Given the description of an element on the screen output the (x, y) to click on. 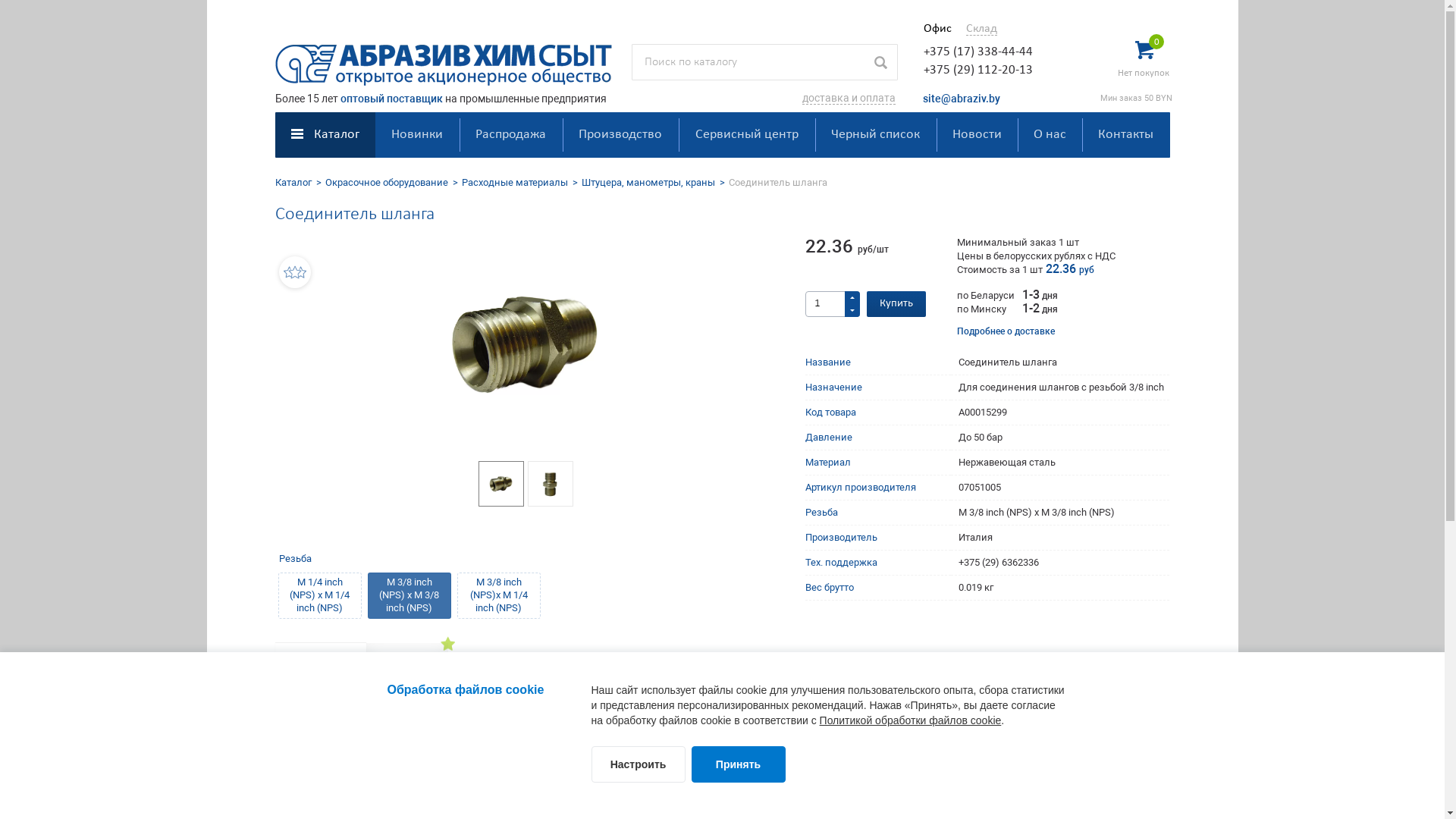
+375 (17) 338-44-44 Element type: text (977, 51)
M 1/4 inch (NPS) x M 1/4 inch (NPS) Element type: text (318, 595)
+375 (29) 112-20-13 Element type: text (977, 69)
site@abraziv.by Element type: text (960, 98)
M 3/8 inch (NPS) x M 3/8 inch (NPS) Element type: text (408, 595)
M 3/8 inch (NPS)x M 1/4 inch (NPS) Element type: text (497, 595)
